Given the description of an element on the screen output the (x, y) to click on. 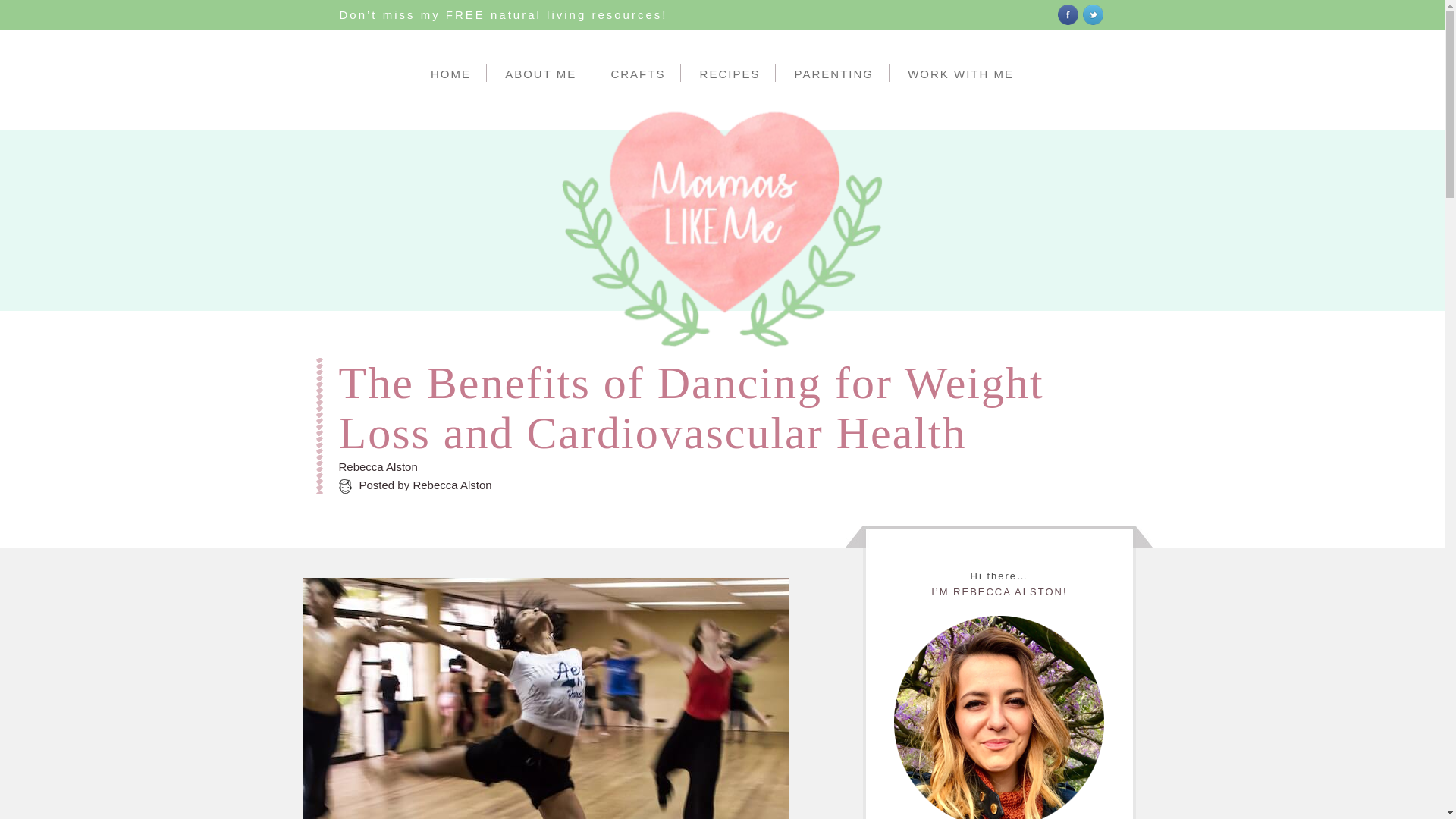
RECIPES (730, 72)
Twitter (1093, 14)
PARENTING (833, 72)
HOME (450, 72)
WORK WITH ME (960, 72)
Facebook (1067, 14)
Twitter (1092, 12)
CRAFTS (638, 72)
Mamas Like Me (53, 372)
Facebook (1067, 12)
ABOUT ME (540, 72)
